Given the description of an element on the screen output the (x, y) to click on. 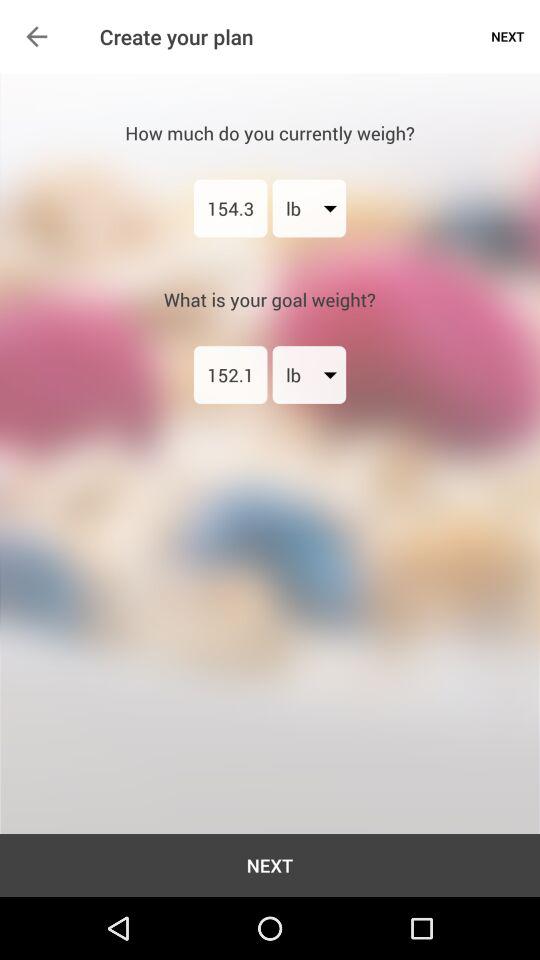
press the icon above what is your (230, 208)
